Given the description of an element on the screen output the (x, y) to click on. 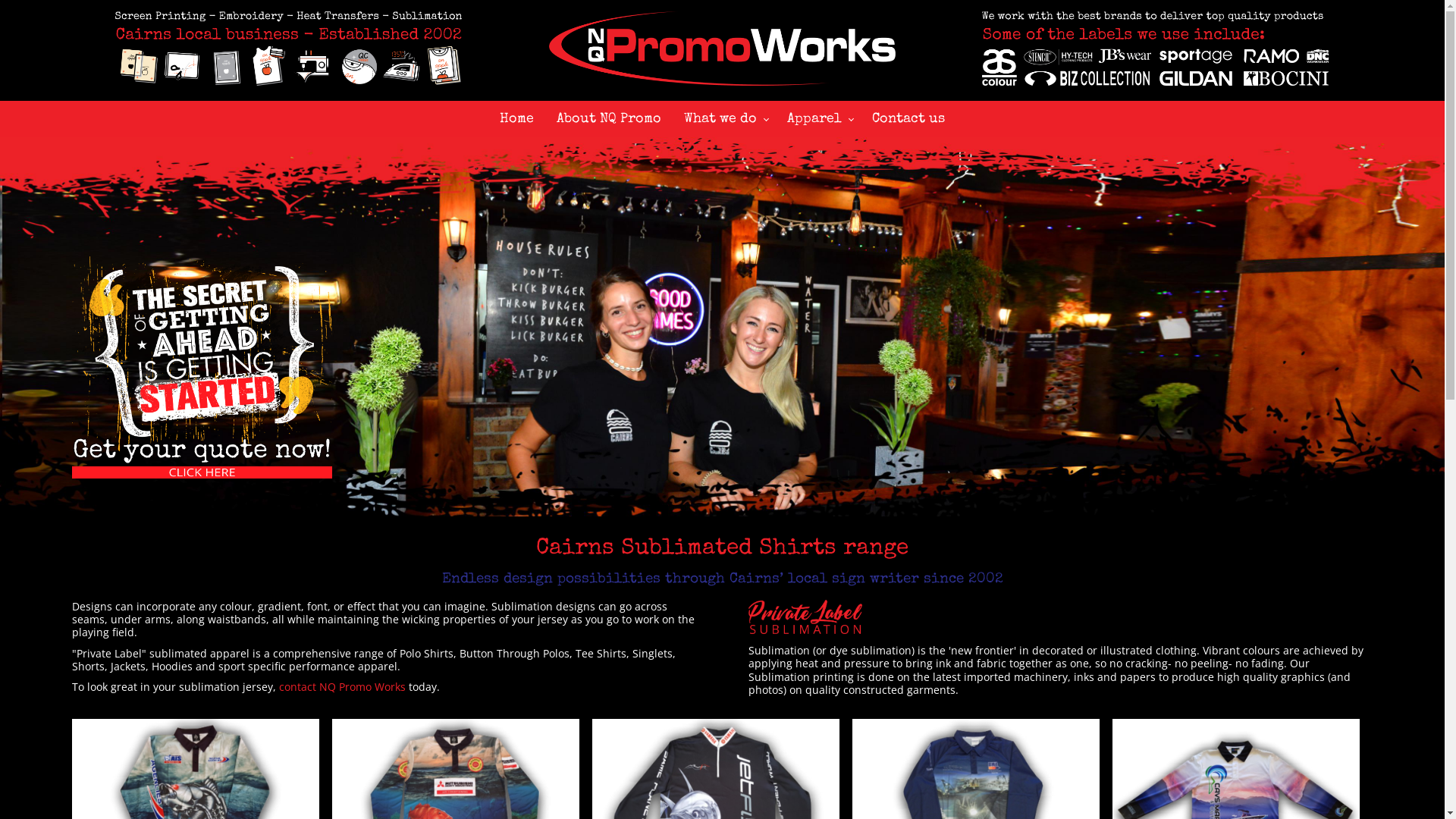
Home Element type: text (516, 118)
2 Element type: hover (722, 362)
What we do Element type: text (723, 118)
Contact us Element type: text (908, 118)
About NQ Promo Element type: text (608, 118)
Apparel Element type: text (817, 118)
contact NQ Promo Works Element type: text (342, 686)
